Given the description of an element on the screen output the (x, y) to click on. 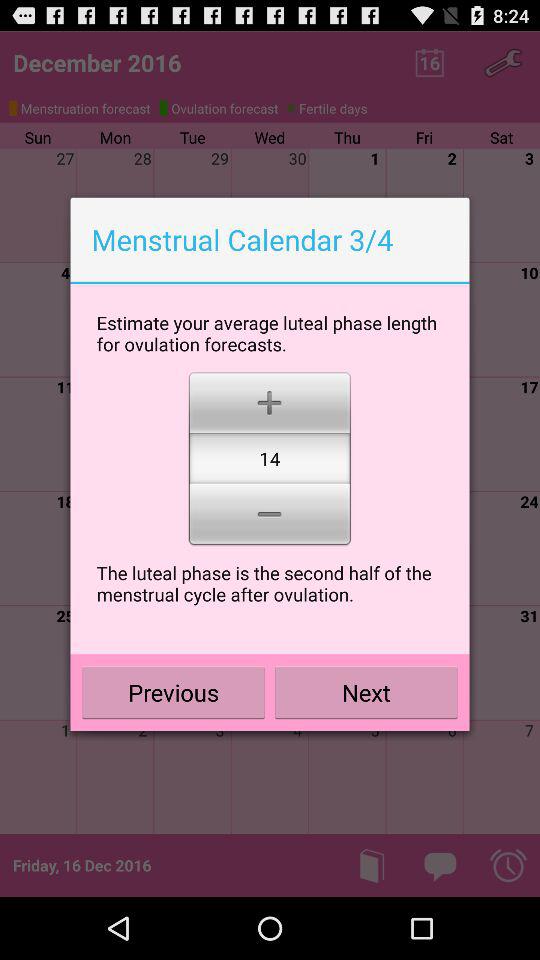
add days (269, 400)
